Given the description of an element on the screen output the (x, y) to click on. 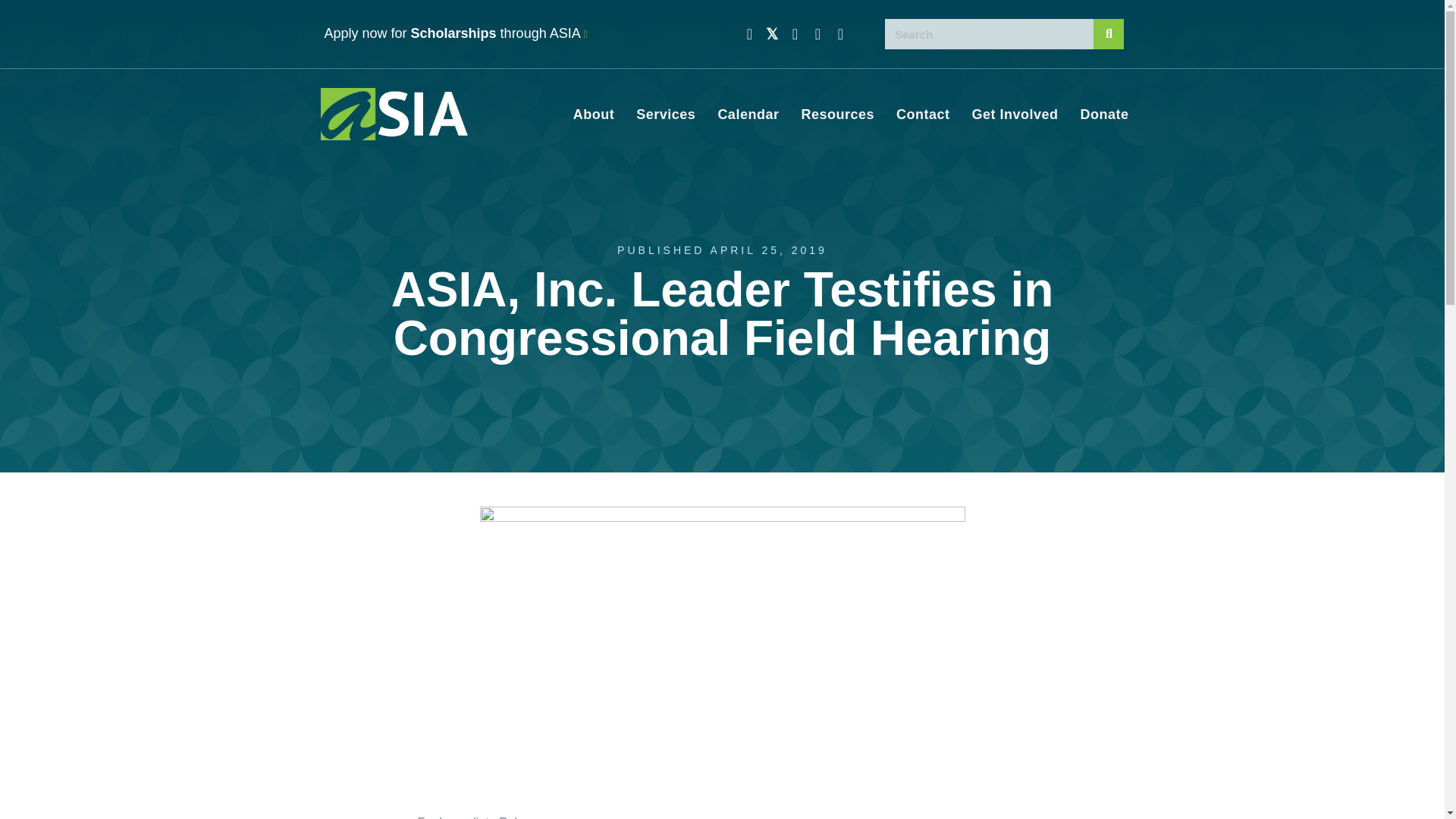
Resources (837, 114)
Apply now for Scholarships through ASIA (456, 33)
Search (989, 33)
Calendar (747, 114)
Contact (922, 114)
Twitter (771, 33)
YouTube (817, 33)
Facebook (748, 33)
About (593, 114)
Get Involved (1014, 114)
